Given the description of an element on the screen output the (x, y) to click on. 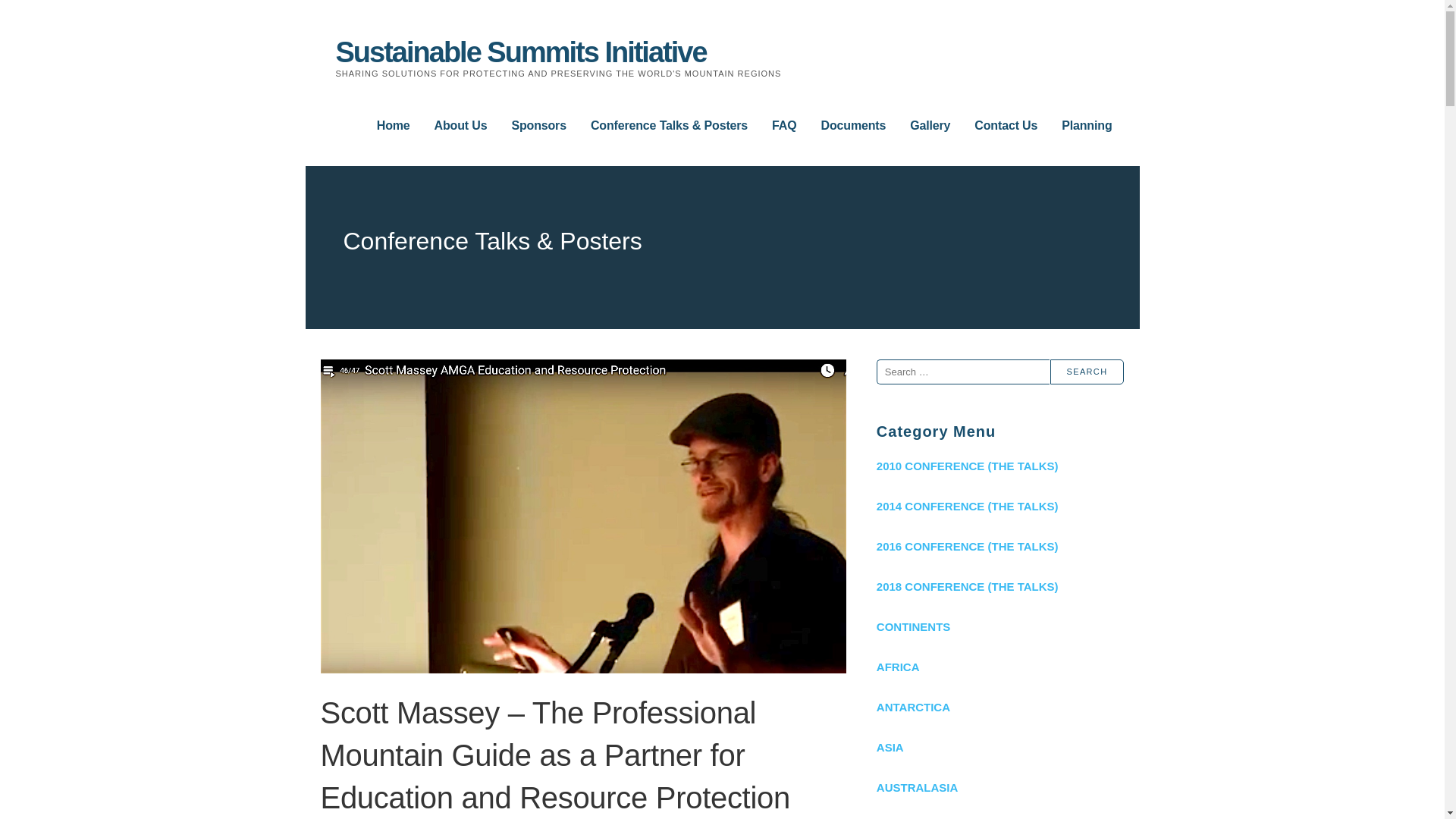
About Us (460, 126)
Sustainable Summits Initiative (520, 51)
ANTARCTICA (1000, 707)
Planning (1086, 126)
Home (393, 126)
Sponsors (538, 126)
Search (1086, 371)
Documents (853, 126)
CONTINENTS (1000, 626)
AFRICA (1000, 667)
ASIA (1000, 747)
Gallery (930, 126)
Contact Us (1005, 126)
Search (1086, 371)
Search (1086, 371)
